Given the description of an element on the screen output the (x, y) to click on. 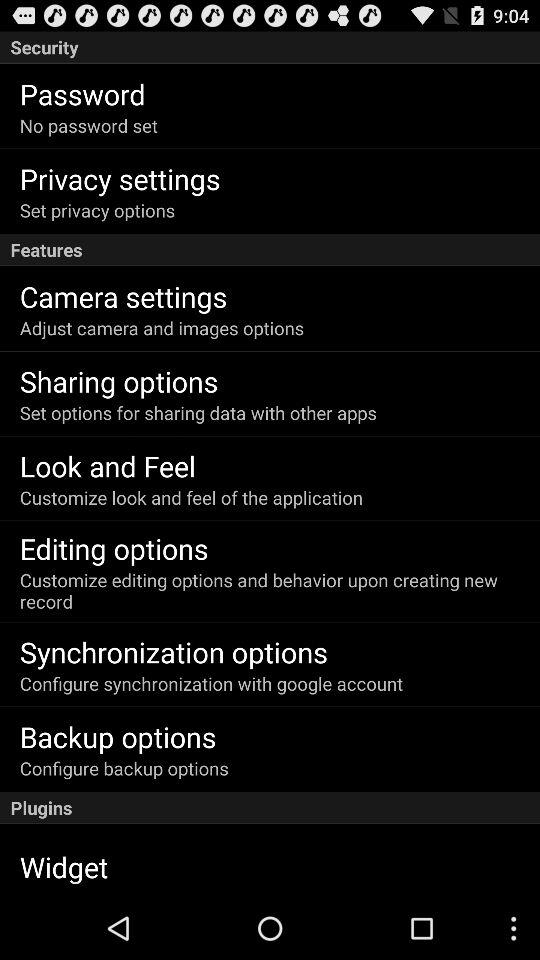
turn on security (270, 47)
